Given the description of an element on the screen output the (x, y) to click on. 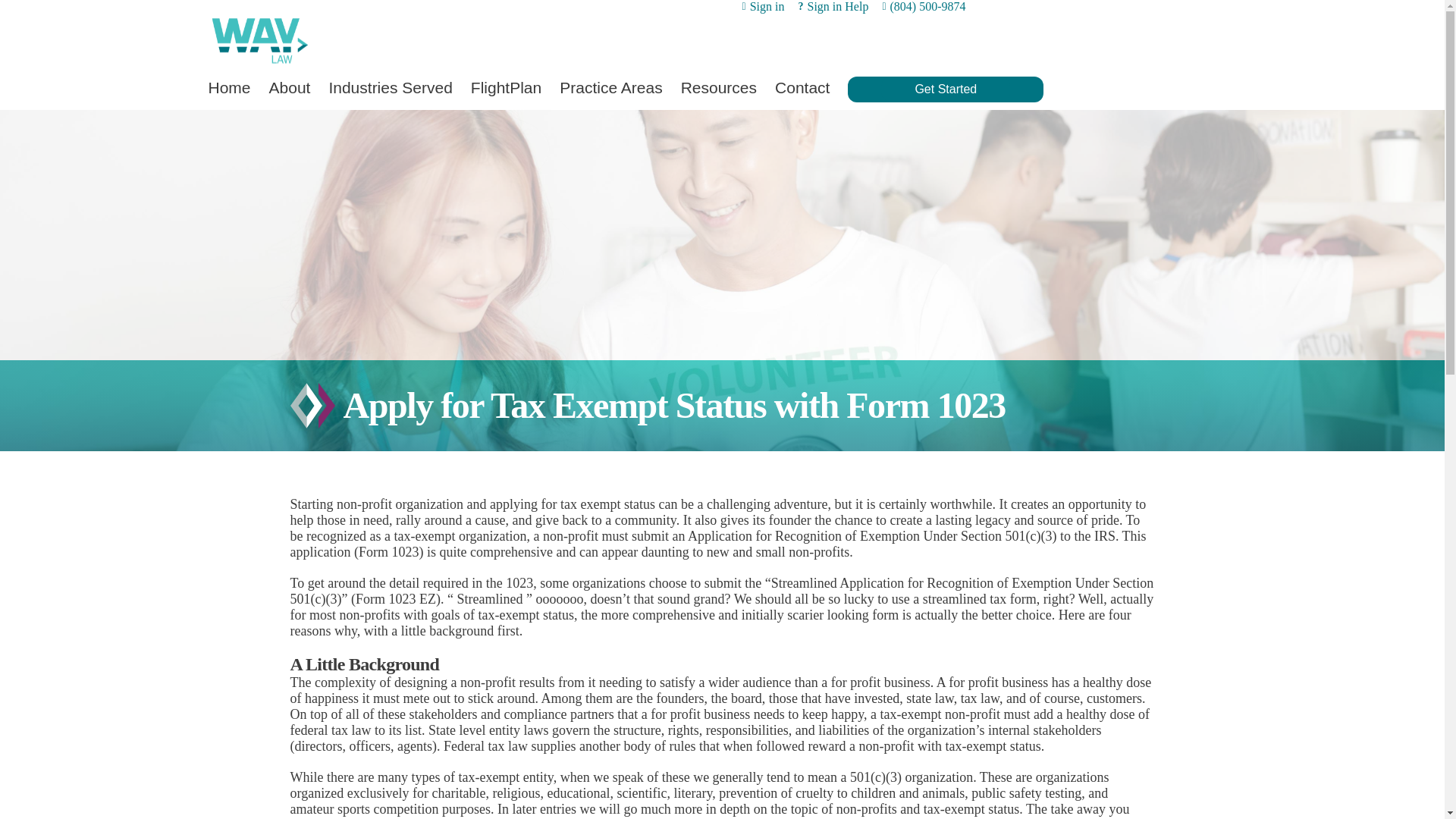
FlightPlan (505, 88)
Practice Areas (610, 88)
About (290, 88)
Resources (719, 88)
Sign in Help (832, 6)
Industries Served (390, 88)
Sign in (763, 6)
Get Started (945, 88)
Home (229, 88)
Contact (801, 88)
